Given the description of an element on the screen output the (x, y) to click on. 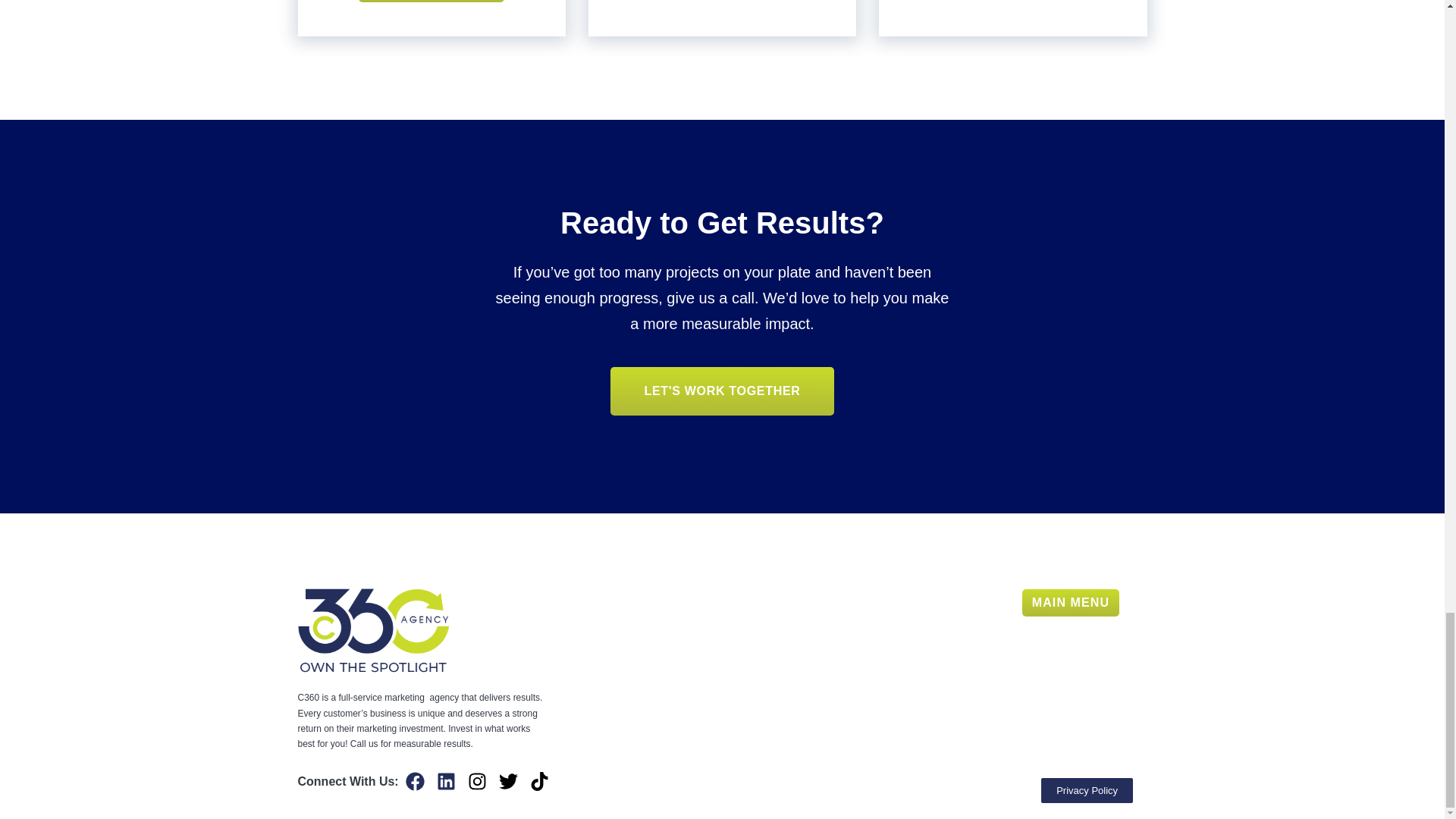
MAIN MENU (1070, 602)
LET'S WORK TOGETHER (721, 390)
READ MORE (430, 1)
Privacy Policy (1086, 790)
